Given the description of an element on the screen output the (x, y) to click on. 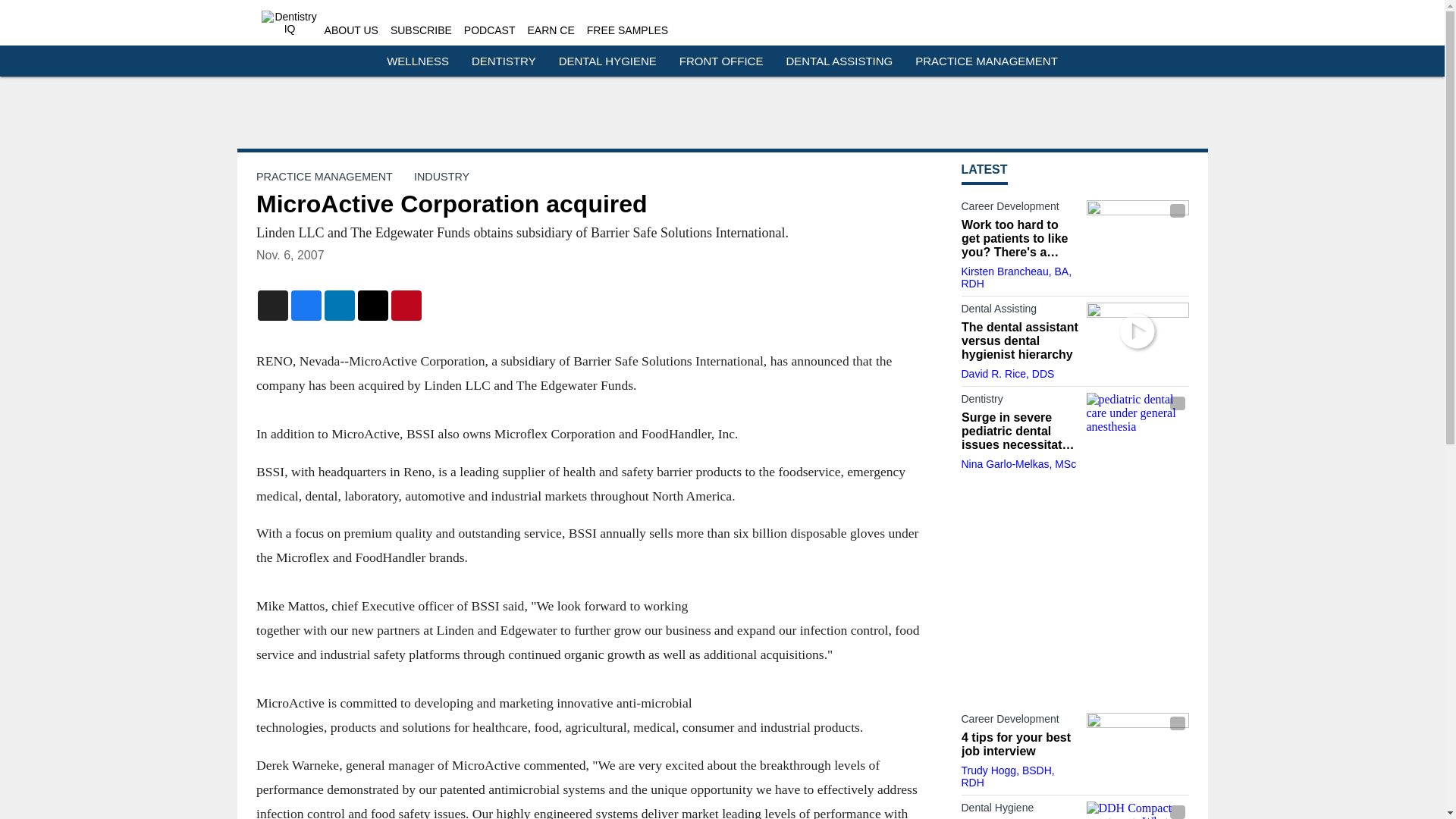
Kirsten Brancheau, BA, RDH (1015, 277)
Career Development (1019, 208)
DDH Compact enactment: What you need to know now (1137, 810)
Trudy Hogg, BSDH, RDH (1007, 776)
WELLNESS (417, 60)
INDUSTRY (440, 176)
Dentistry (1019, 402)
FRONT OFFICE (720, 60)
Dental Assisting (1019, 311)
FREE SAMPLES (627, 30)
David R. Rice, DDS (1007, 373)
SUBSCRIBE (420, 30)
The dental assistant versus dental hygienist hierarchy (1019, 341)
